Given the description of an element on the screen output the (x, y) to click on. 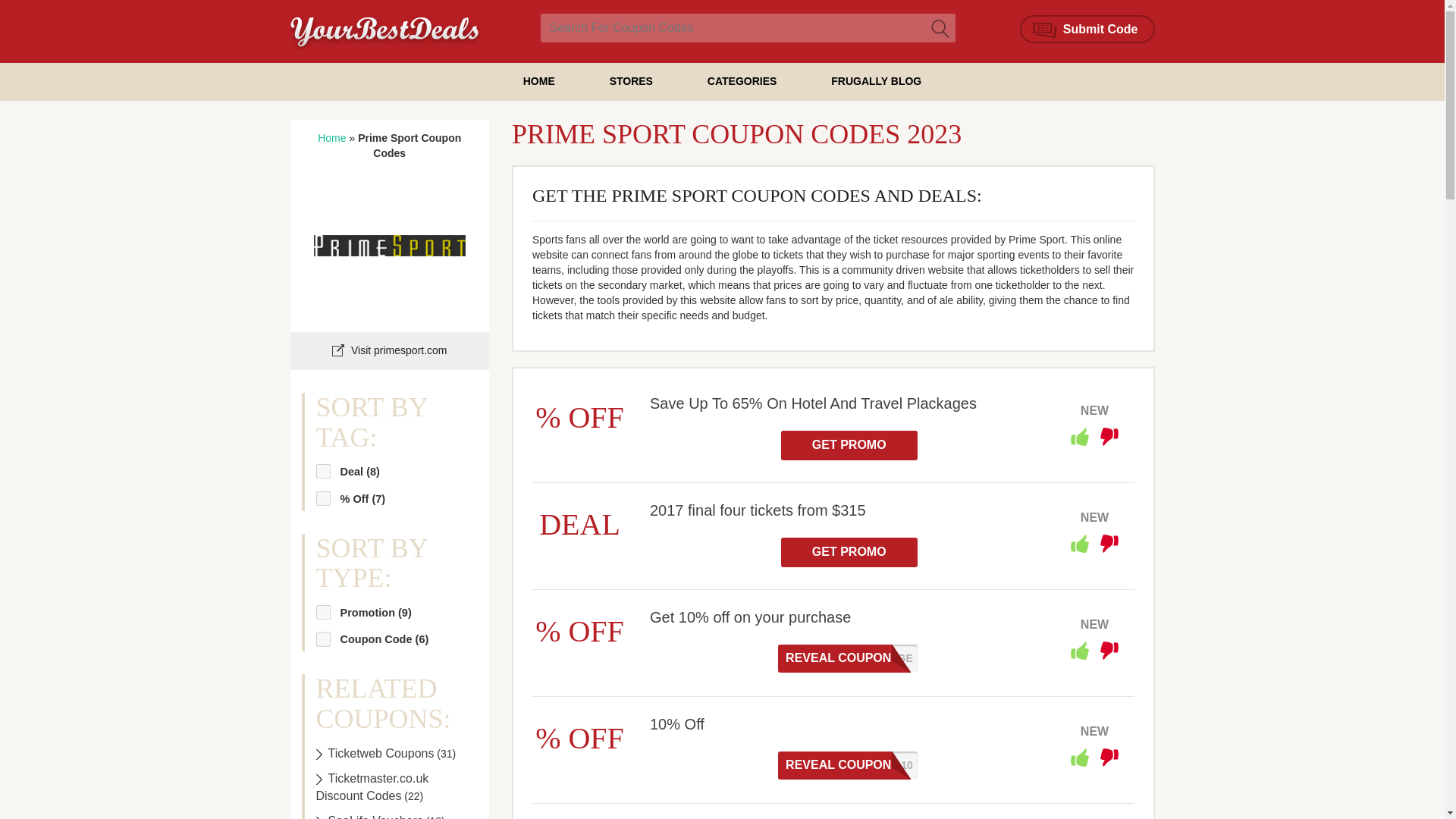
STORES (631, 80)
YourBestDeals (384, 30)
Submit Code (1087, 29)
Visit primesport.com (388, 349)
GET PROMO (848, 552)
FRUGALLY BLOG (876, 80)
Ticketmaster.co.uk Discount Codes (371, 787)
REVEAL COUPON (847, 765)
Ticketweb Coupons (374, 753)
CATEGORIES (742, 80)
REVEAL COUPON (847, 658)
coupon-code (320, 632)
Search (940, 28)
HOME (538, 80)
promotion (320, 606)
